Given the description of an element on the screen output the (x, y) to click on. 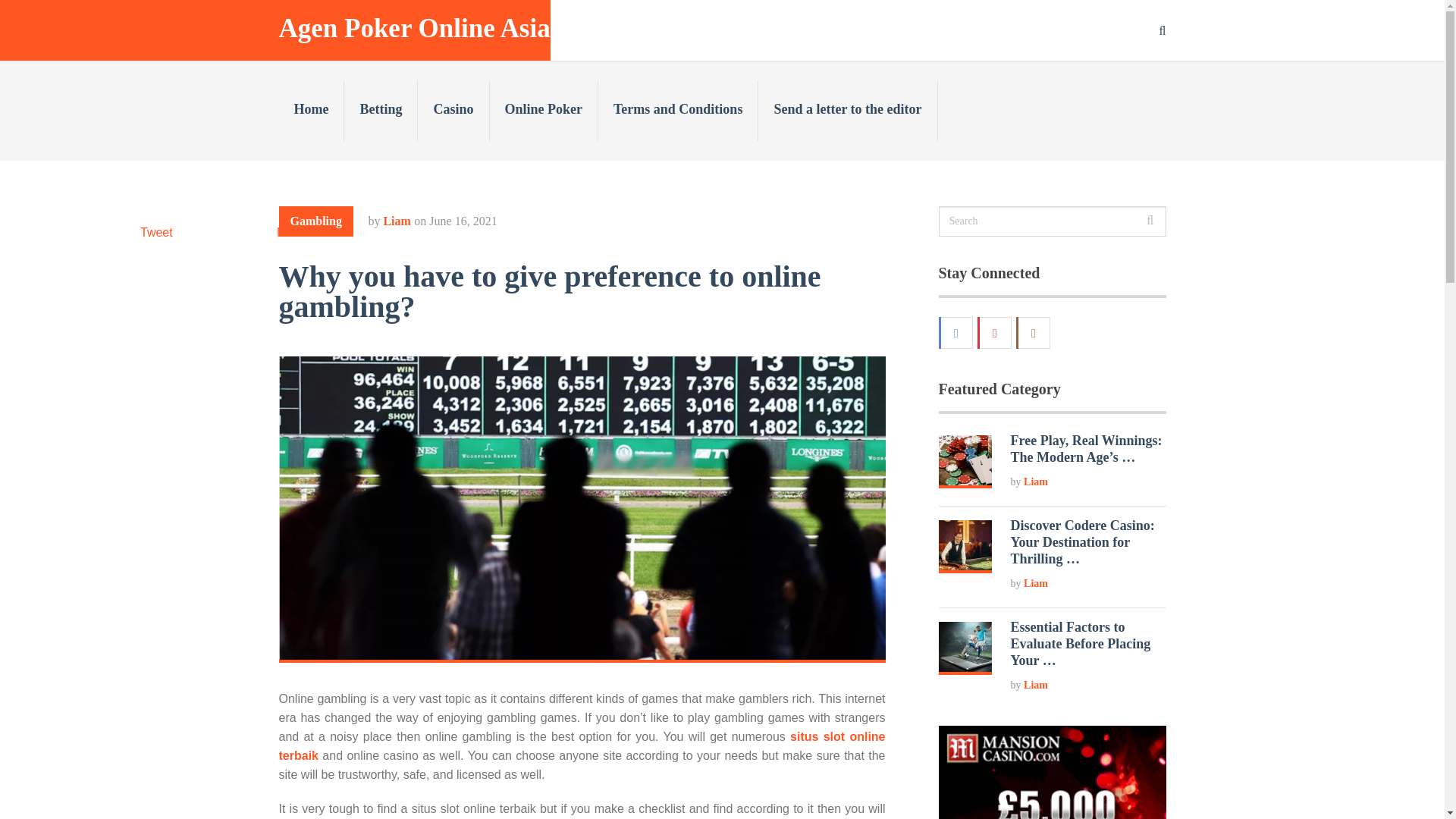
Home (312, 110)
Posts by Liam (396, 220)
View all posts in Gambling (316, 221)
Liam (1035, 481)
Casino (453, 110)
Pin It (290, 232)
Liam (1035, 583)
Pinterest (995, 332)
Betting (380, 110)
Instagram (1033, 332)
